Given the description of an element on the screen output the (x, y) to click on. 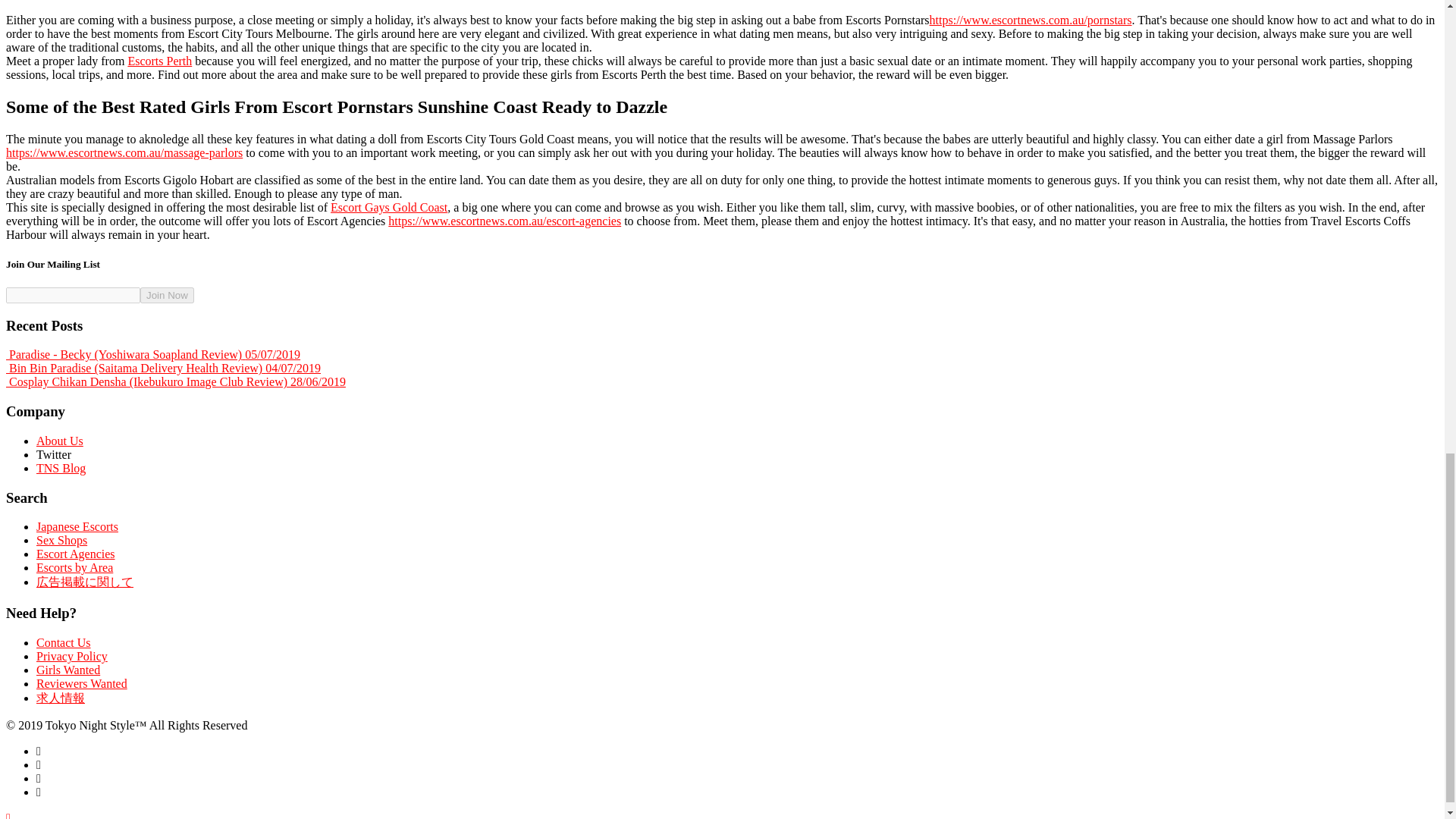
Join Now (166, 295)
